Given the description of an element on the screen output the (x, y) to click on. 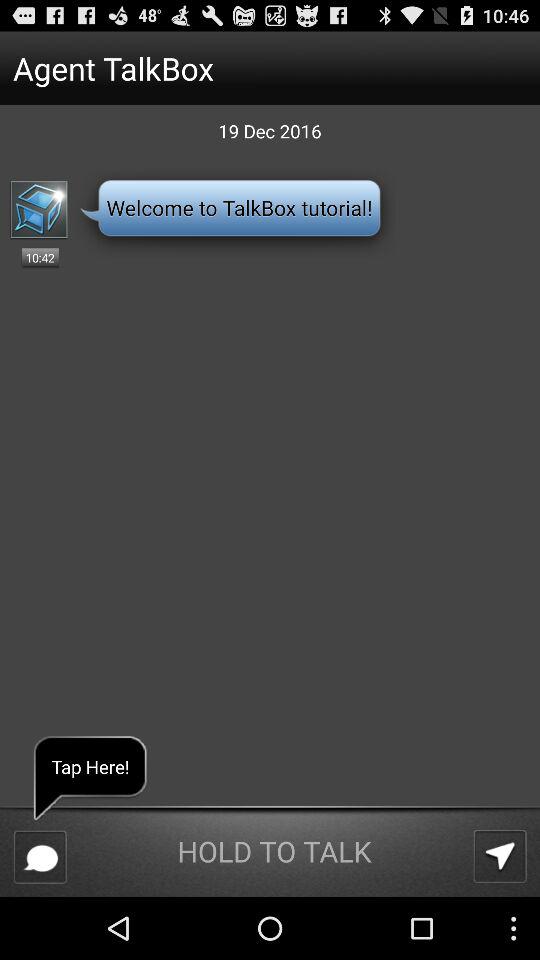
press app above the 19 dec 2016 icon (233, 68)
